Given the description of an element on the screen output the (x, y) to click on. 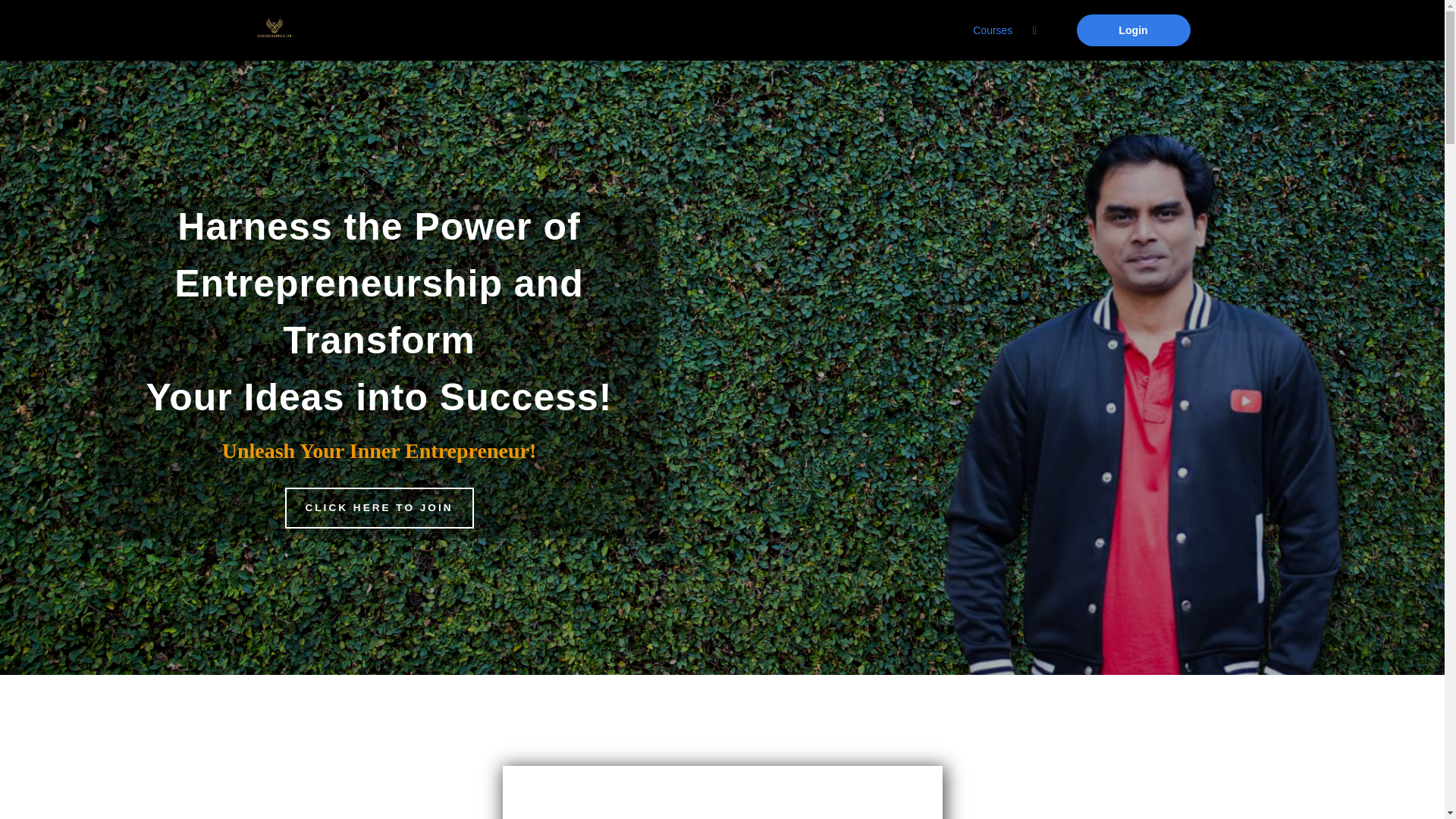
Login (1134, 29)
Courses (992, 29)
CLICK HERE TO JOIN (379, 507)
